Given the description of an element on the screen output the (x, y) to click on. 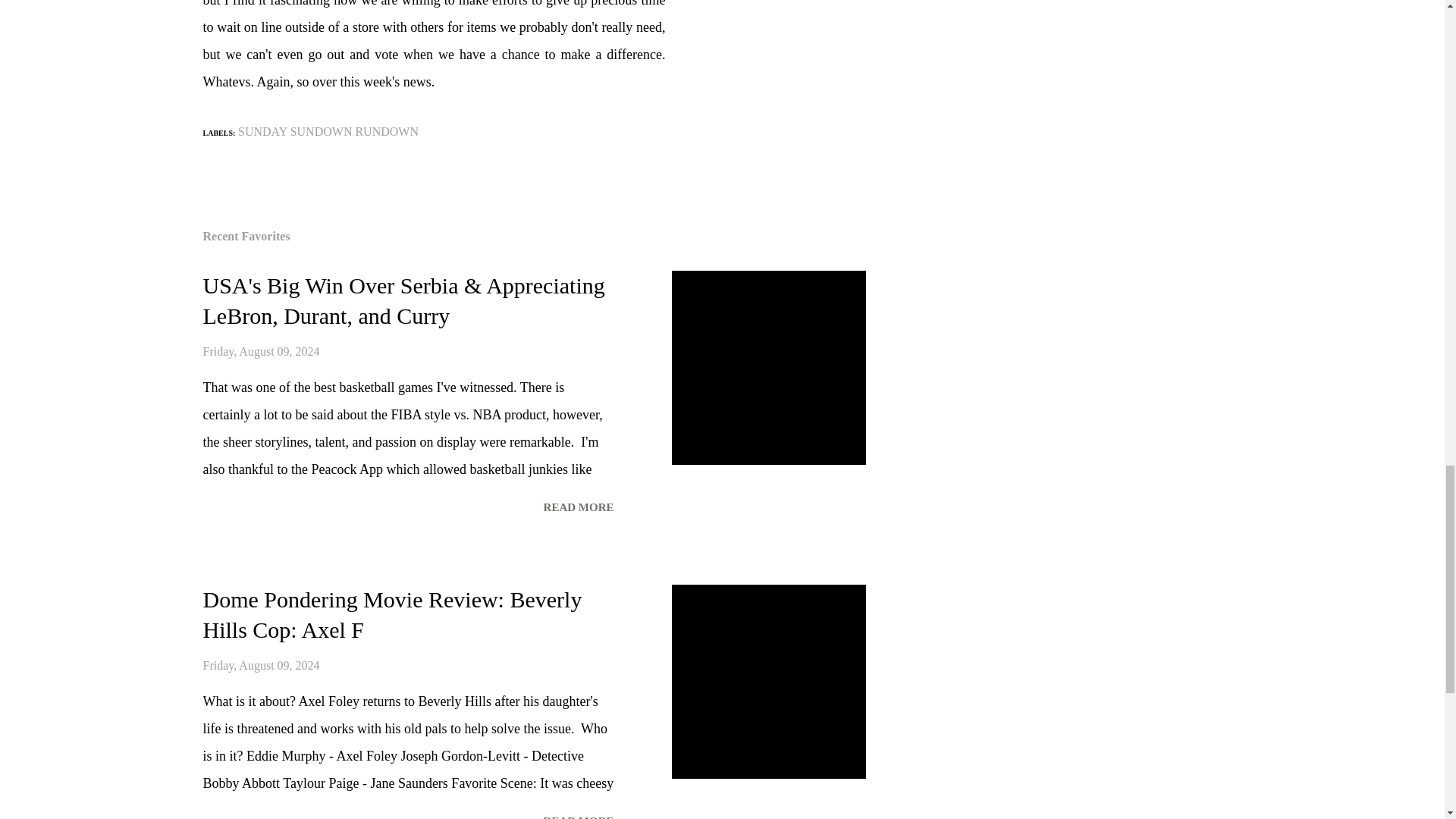
permanent link (261, 350)
Friday, August 09, 2024 (261, 665)
SUNDAY SUNDOWN RUNDOWN (328, 131)
permanent link (261, 665)
READ MORE (578, 814)
READ MORE (578, 507)
Dome Pondering Movie Review: Beverly Hills Cop: Axel F (578, 814)
Friday, August 09, 2024 (261, 350)
Dome Pondering Movie Review: Beverly Hills Cop: Axel F (392, 614)
